Given the description of an element on the screen output the (x, y) to click on. 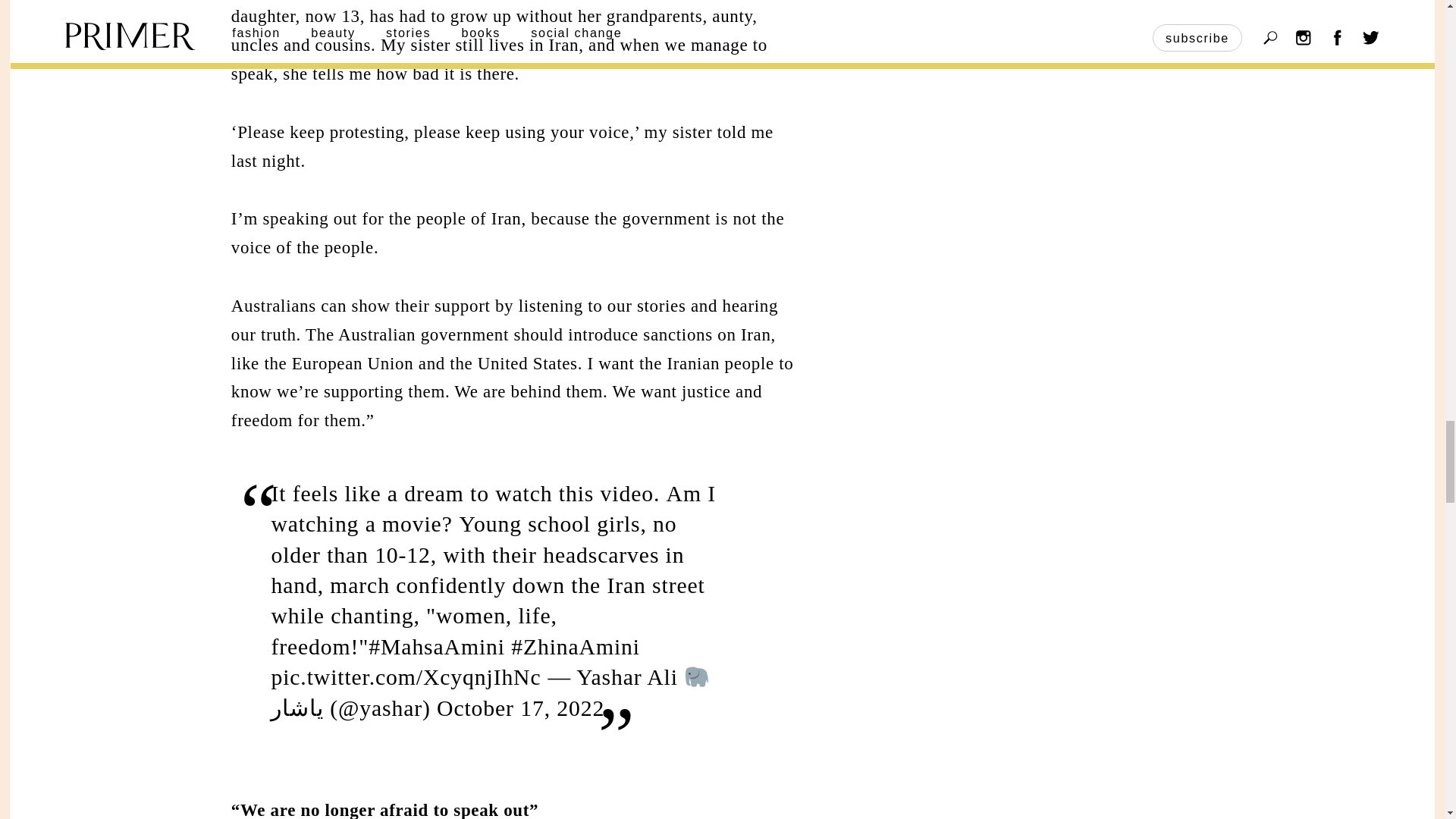
October 17, 2022 (520, 708)
